Given the description of an element on the screen output the (x, y) to click on. 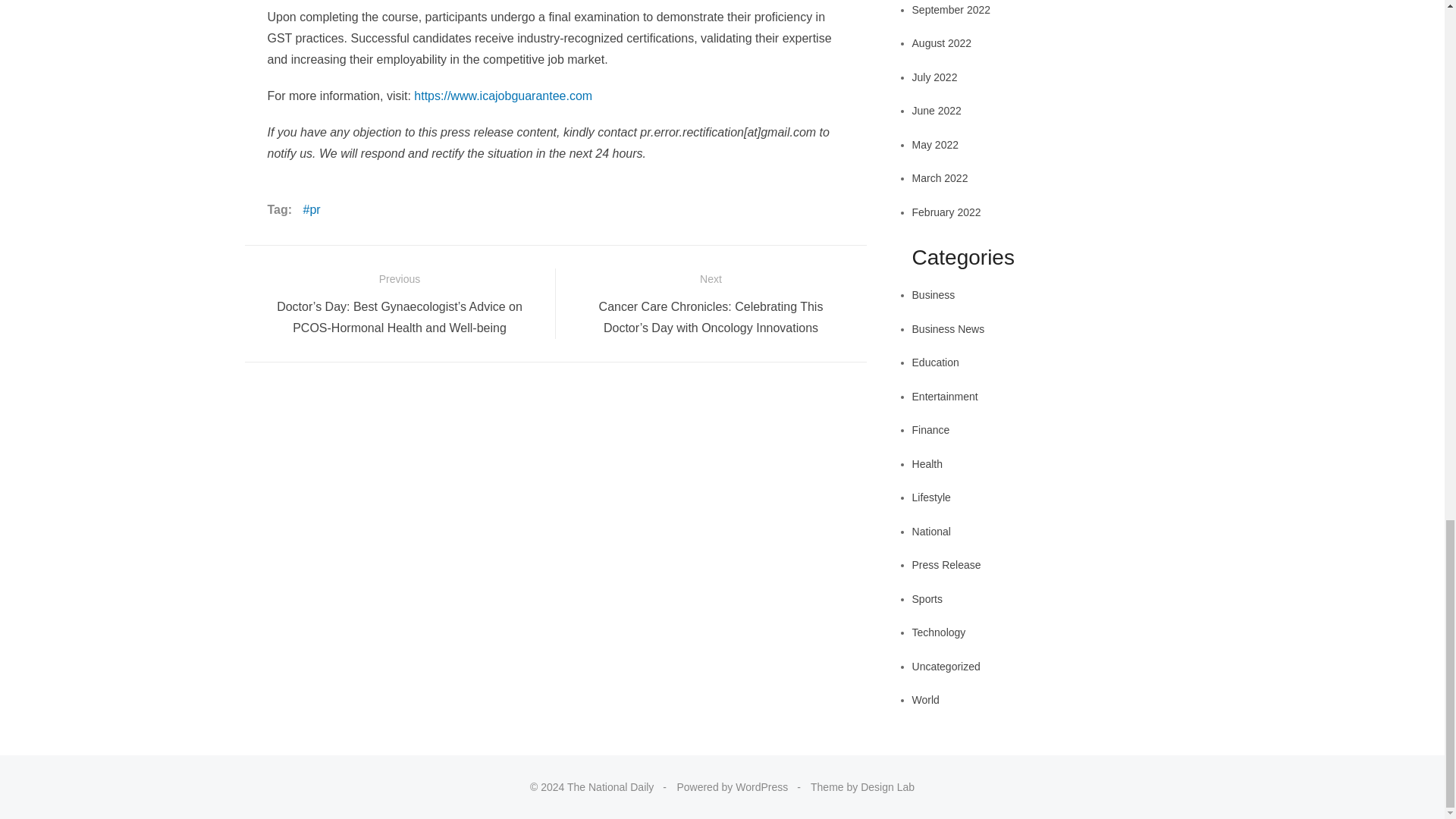
pr (311, 210)
